Given the description of an element on the screen output the (x, y) to click on. 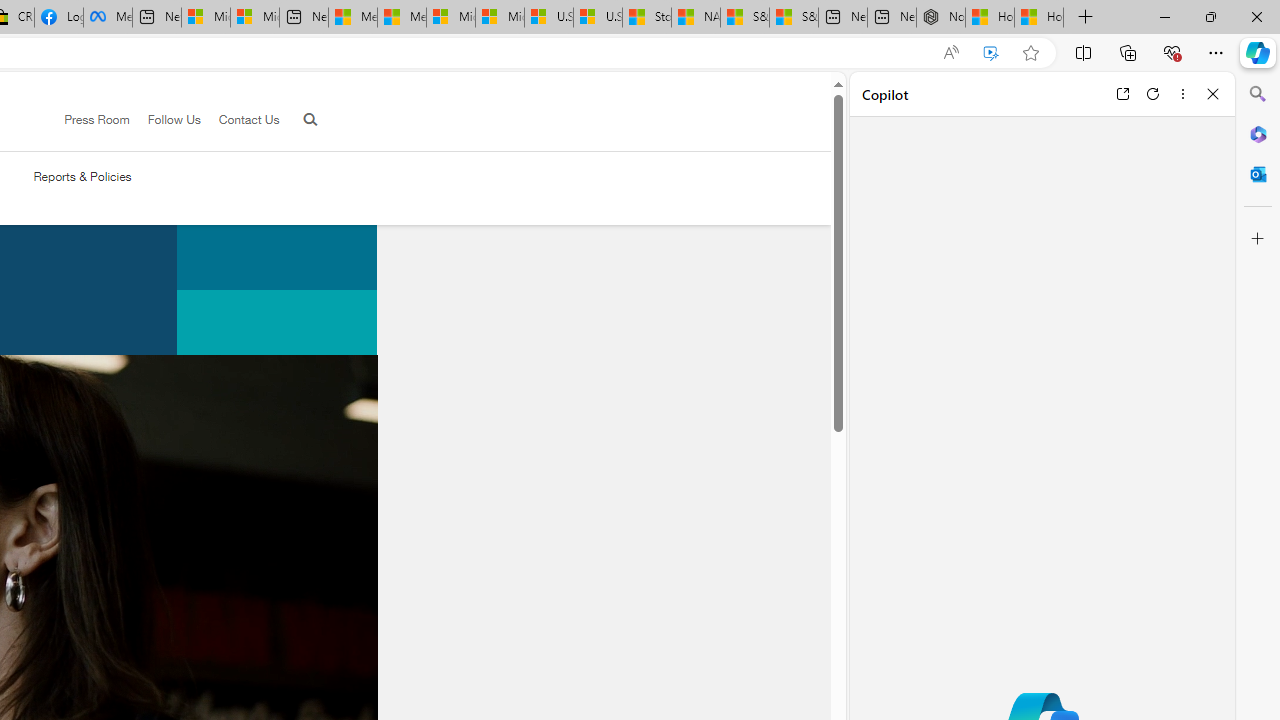
How to Use a Monitor With Your Closed Laptop (1039, 17)
Follow Us (173, 119)
Meta Store (107, 17)
Customize (1258, 239)
